Given the description of an element on the screen output the (x, y) to click on. 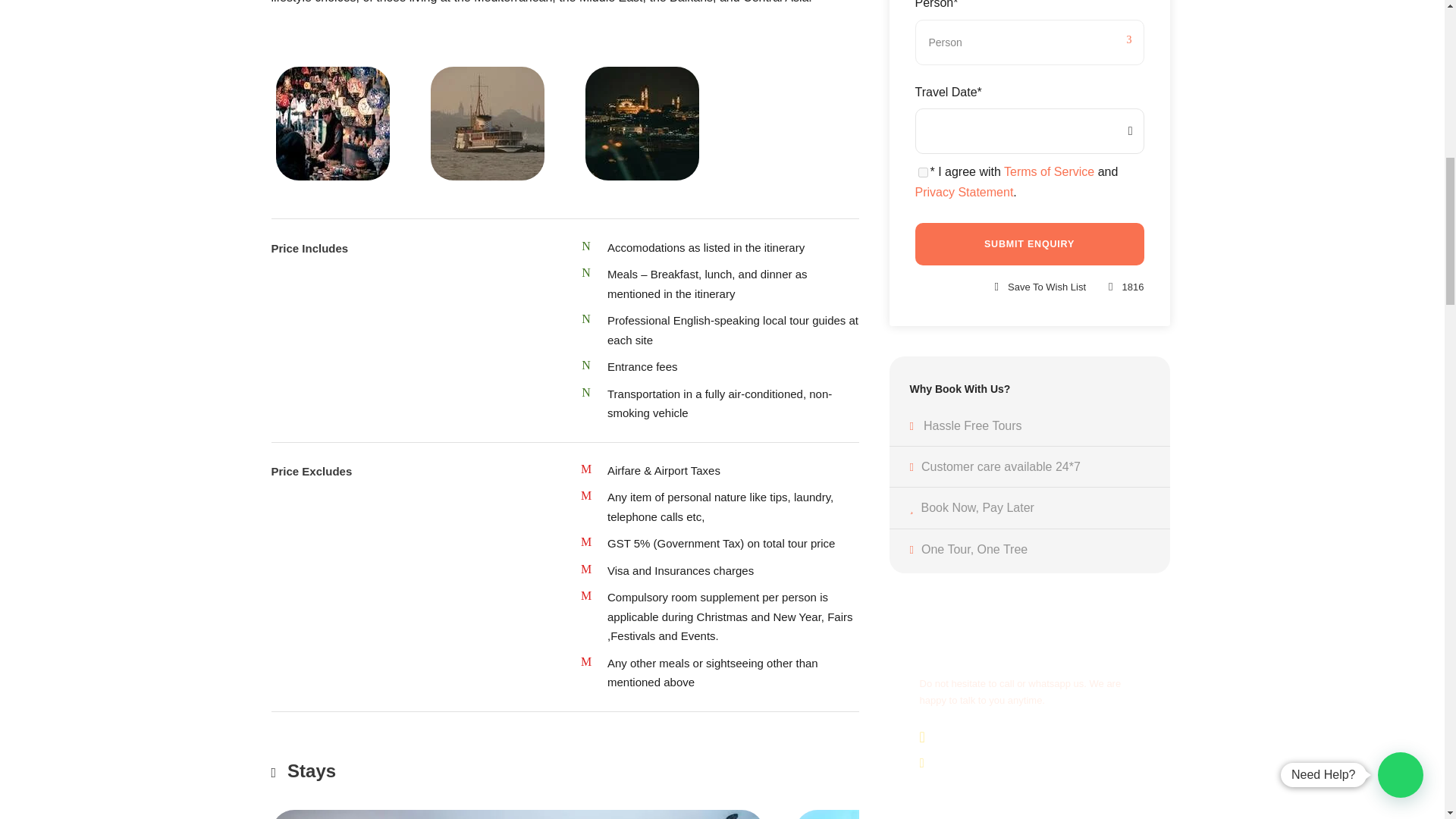
Signature Hotels (1040, 814)
zekeriya-sen-oq6pky8AJJQ-unsplash (487, 123)
wei-pan-eBE3pEIZjbc-unsplash (333, 123)
tolga-ahmetler-fTIQnxWvR2o-unsplash (641, 123)
Submit Enquiry (1028, 243)
227375242 (517, 814)
on (922, 172)
